Given the description of an element on the screen output the (x, y) to click on. 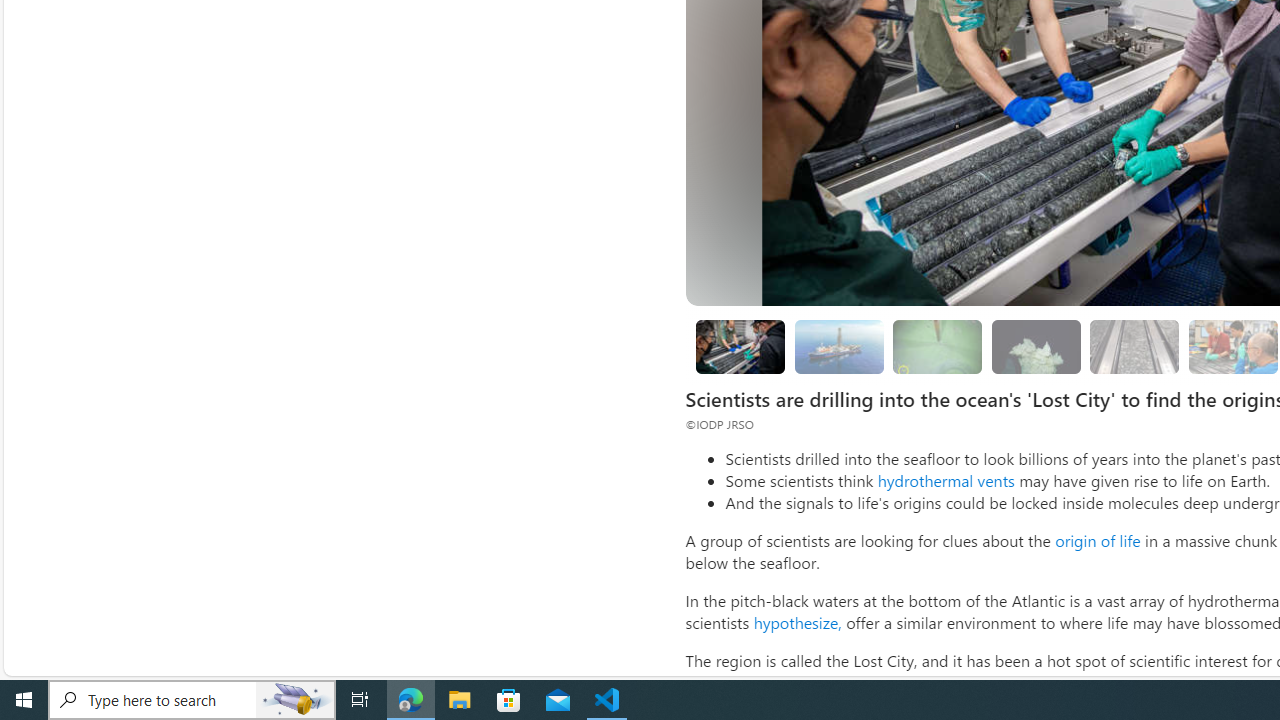
hydrothermal vents (945, 480)
The Lost City could hold clues to the origin of life. (1035, 346)
hypothesize, (797, 622)
Class: progress (1134, 343)
Looking for evidence of oxygen-free life (1232, 346)
The Lost City could hold clues to the origin of life. (1035, 346)
origin of life (1097, 539)
